Given the description of an element on the screen output the (x, y) to click on. 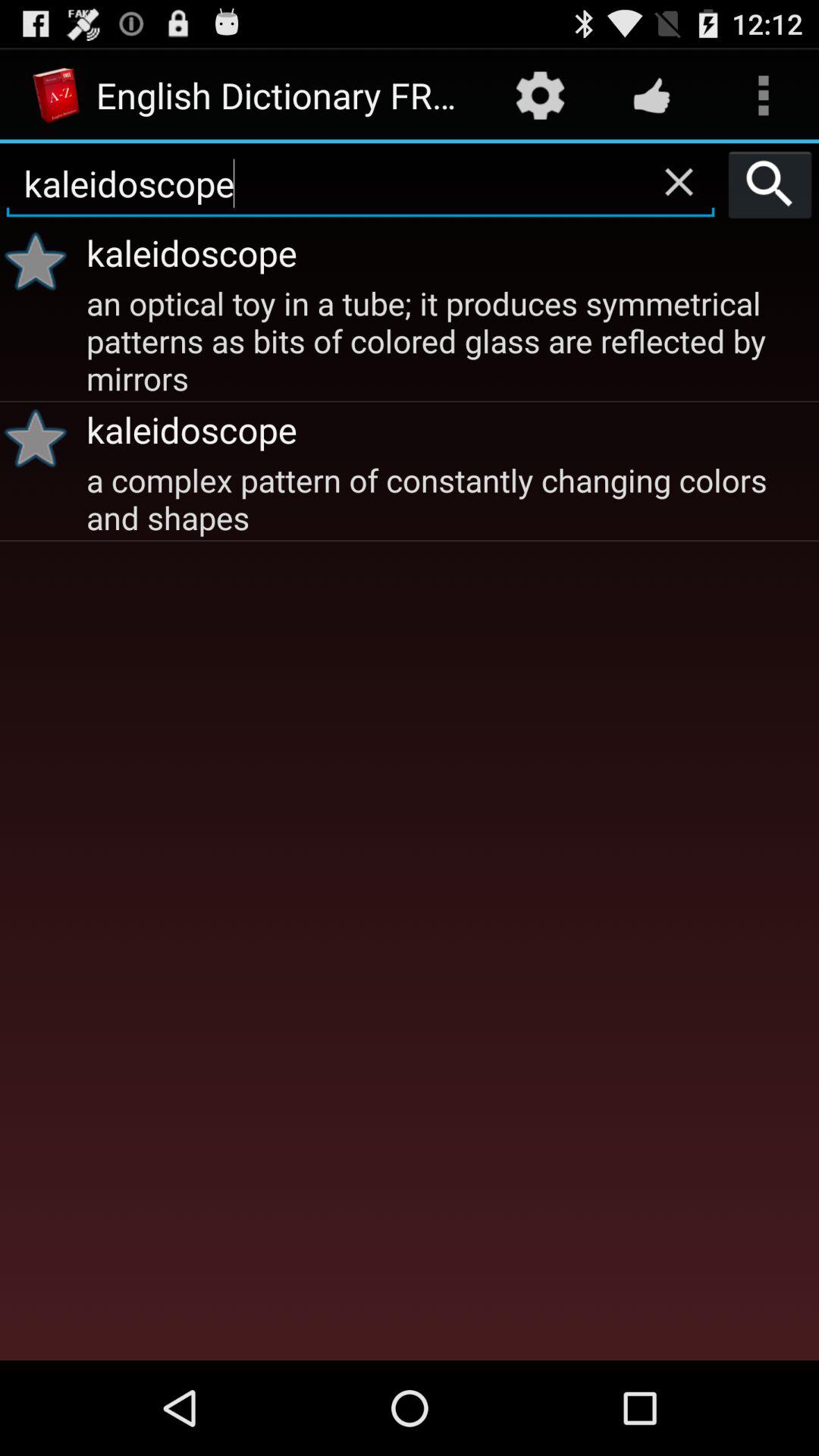
scroll until the an optical toy icon (451, 339)
